Given the description of an element on the screen output the (x, y) to click on. 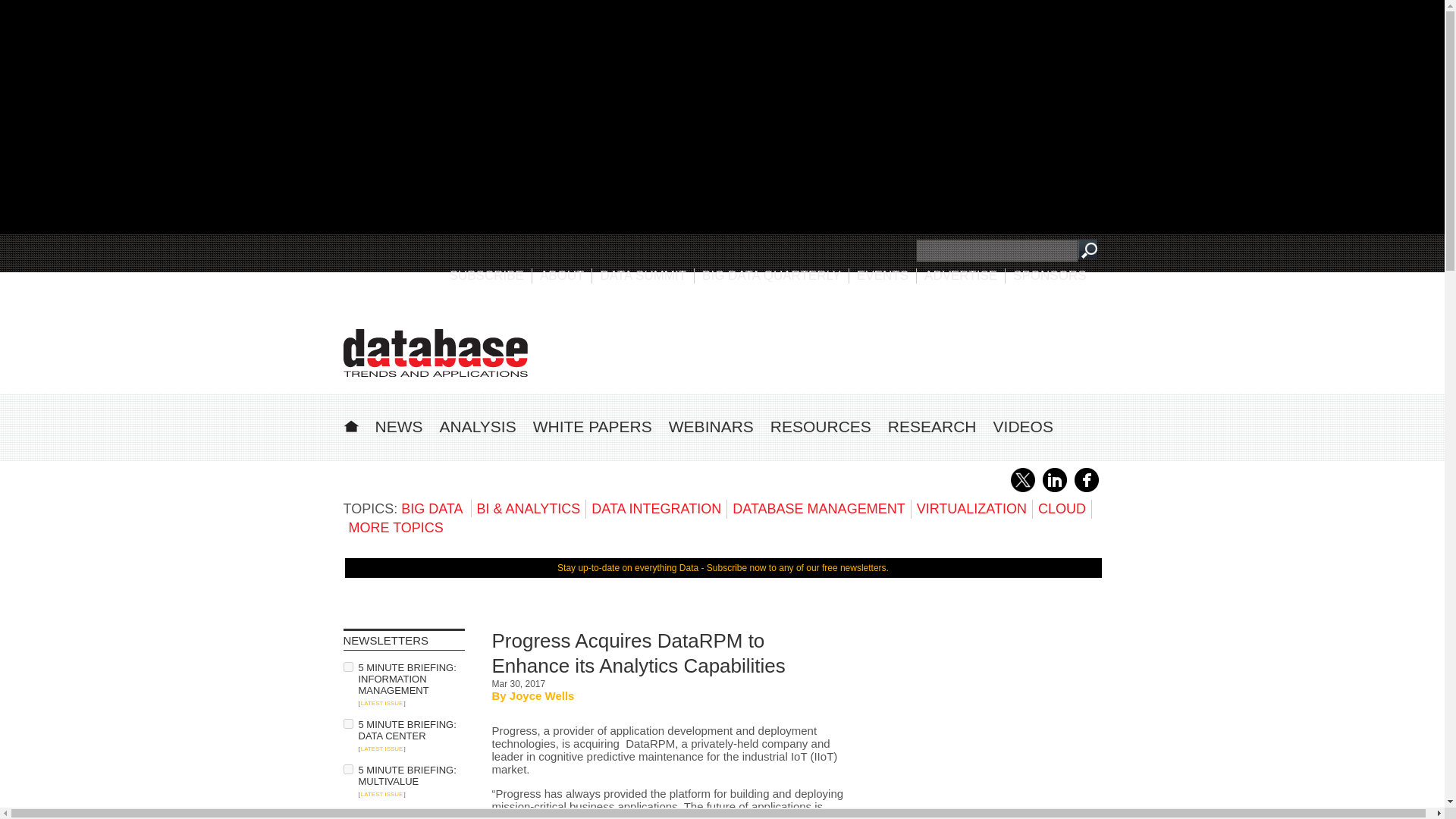
DBTA on Twitter (1021, 489)
ADVERTISE (960, 275)
HOME (350, 424)
RESOURCES (820, 425)
WHITE PAPERS (592, 425)
DATA SUMMIT (642, 275)
EVENTS (882, 275)
DBTA on LinkedIn (1053, 489)
NEWS (398, 425)
3rd party ad content (986, 723)
on (347, 666)
Database Trends and Applications Home (350, 424)
SUBSCRIBE (486, 275)
on (347, 723)
